Given the description of an element on the screen output the (x, y) to click on. 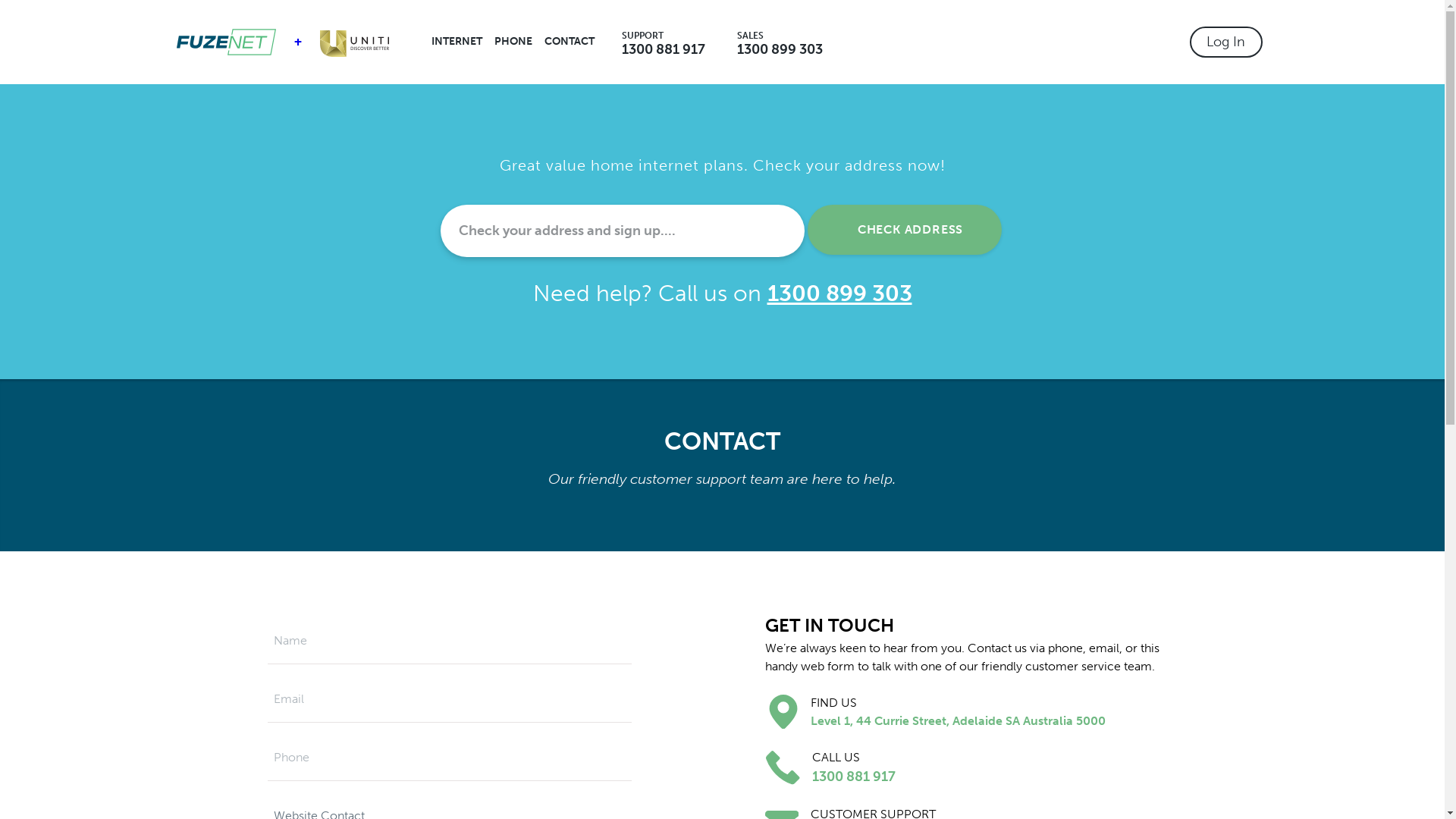
PHONE Element type: text (513, 41)
Log In Element type: text (1225, 41)
1300 881 917 Element type: text (663, 48)
CHECK ADDRESS Element type: text (903, 229)
1300 899 303 Element type: text (779, 48)
INTERNET Element type: text (455, 41)
1300 899 303 Element type: text (839, 293)
CONTACT Element type: text (569, 41)
+ Element type: text (296, 41)
